Given the description of an element on the screen output the (x, y) to click on. 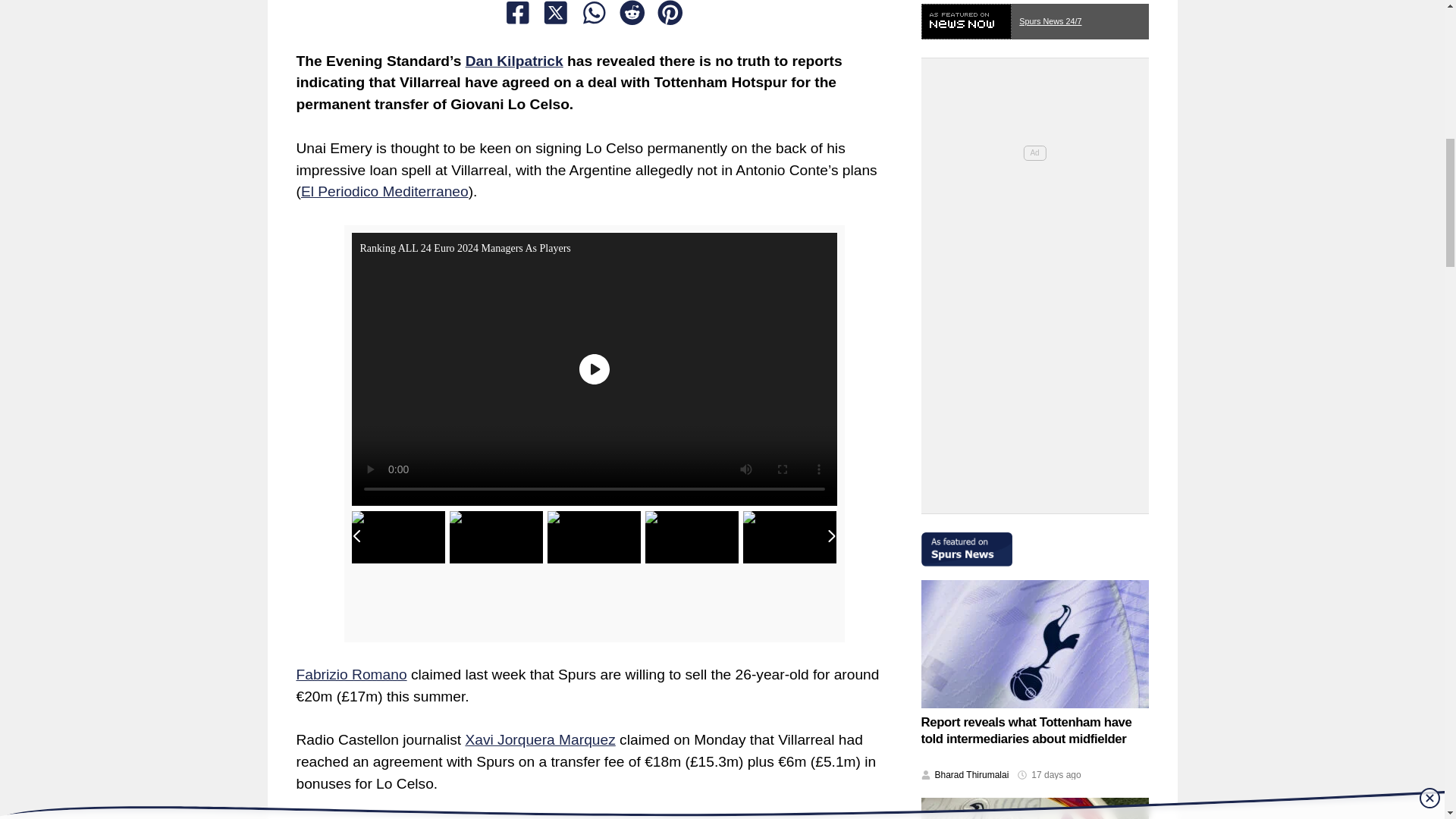
Spurs News (1034, 542)
Fabrizio Romano (350, 674)
Dan Kilpatrick (514, 60)
El Periodico Mediterraneo (384, 191)
Click here for more Spurs news from NewsNow (1034, 16)
Xavi Jorquera Marquez (539, 739)
